Given the description of an element on the screen output the (x, y) to click on. 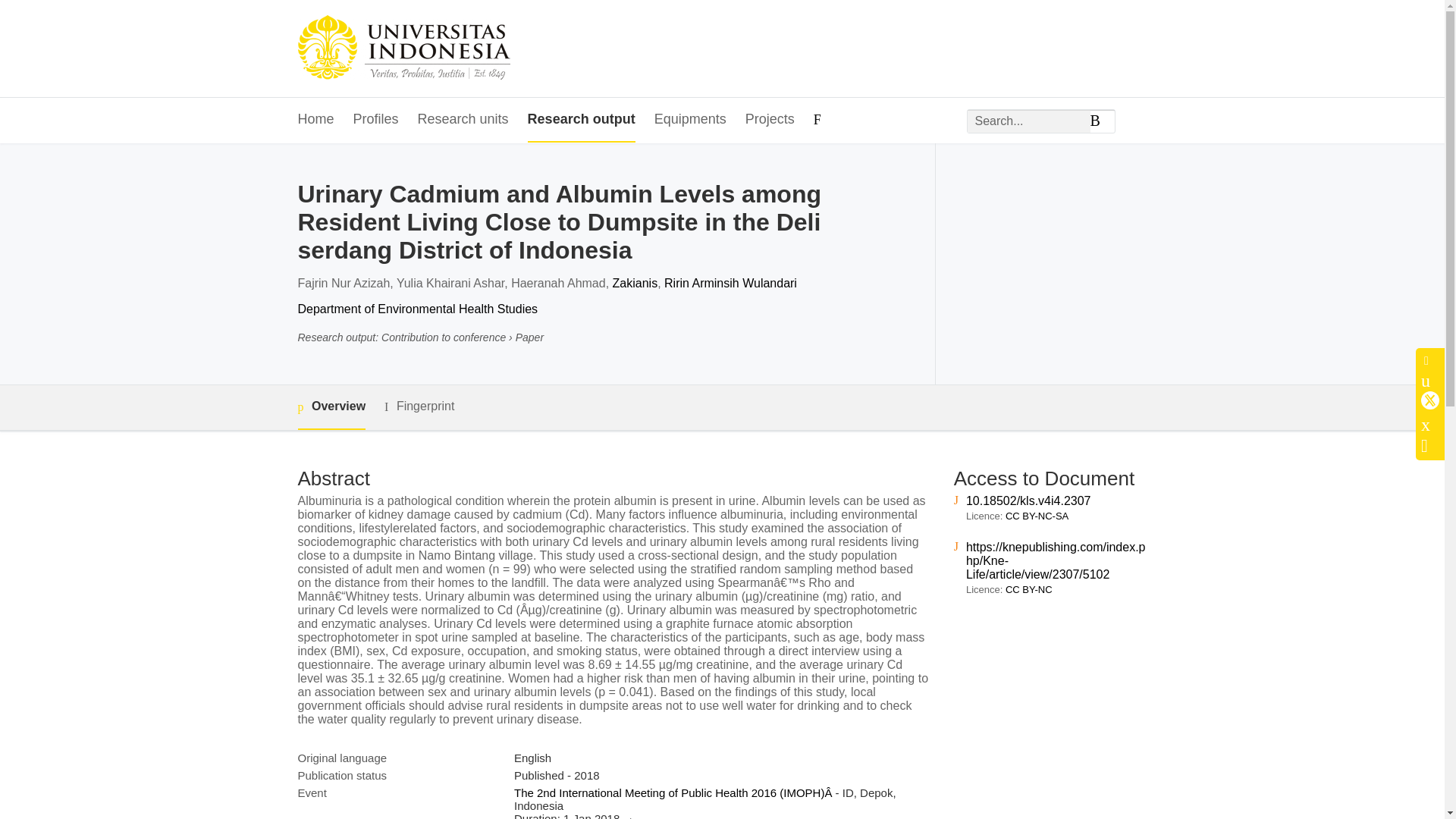
Department of Environmental Health Studies (417, 308)
Equipments (689, 119)
Projects (769, 119)
CC BY-NC-SA (1037, 515)
Fingerprint (419, 406)
Overview (331, 406)
Research units (462, 119)
Ririn Arminsih Wulandari (729, 282)
Zakianis (635, 282)
Profiles (375, 119)
Research output (580, 119)
CC BY-NC (1029, 589)
Universitas Indonesia Home (403, 48)
